Given the description of an element on the screen output the (x, y) to click on. 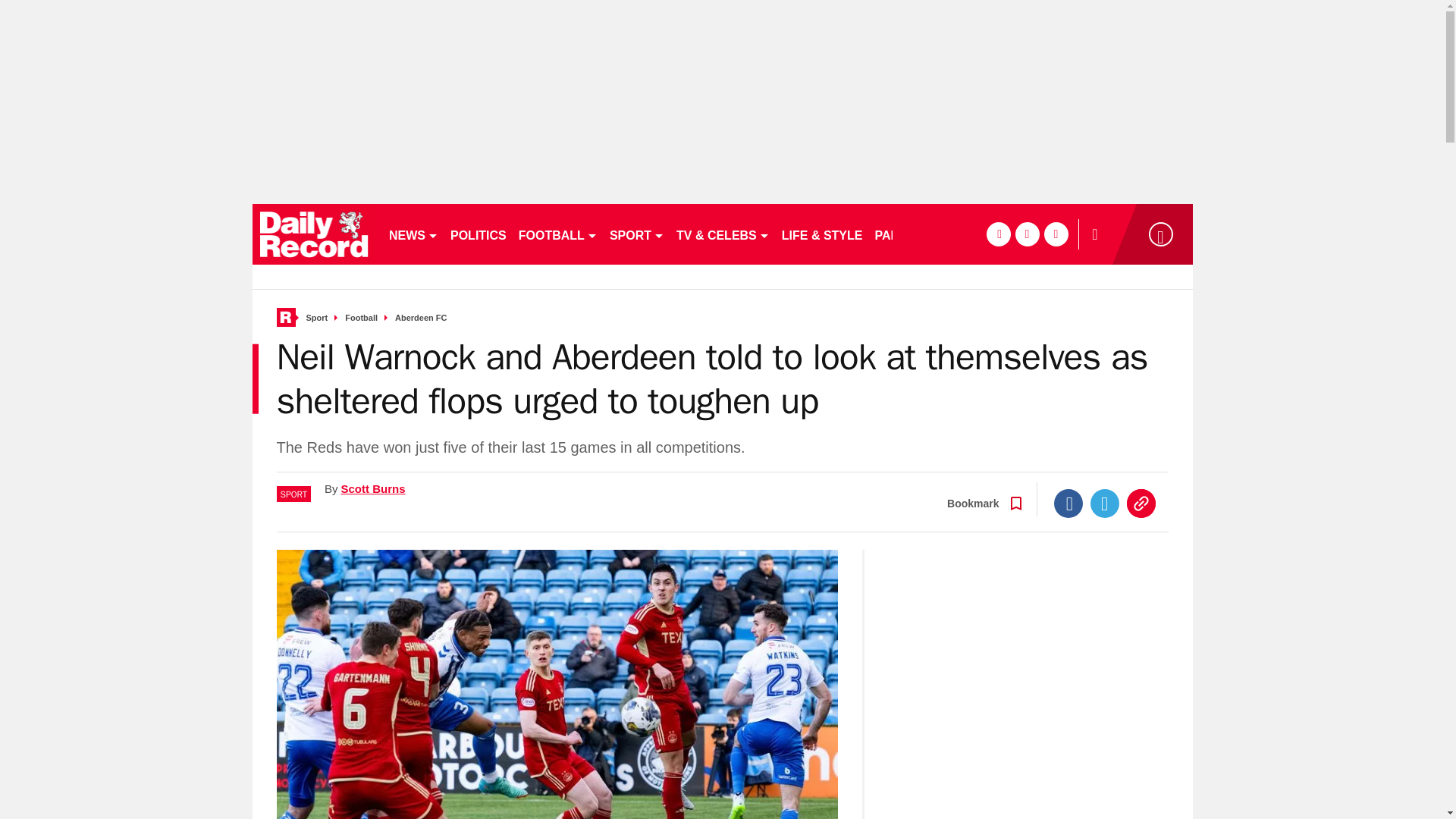
facebook (997, 233)
Twitter (1104, 502)
FOOTBALL (558, 233)
NEWS (413, 233)
POLITICS (478, 233)
instagram (1055, 233)
twitter (1026, 233)
SPORT (636, 233)
dailyrecord (313, 233)
Facebook (1068, 502)
